Given the description of an element on the screen output the (x, y) to click on. 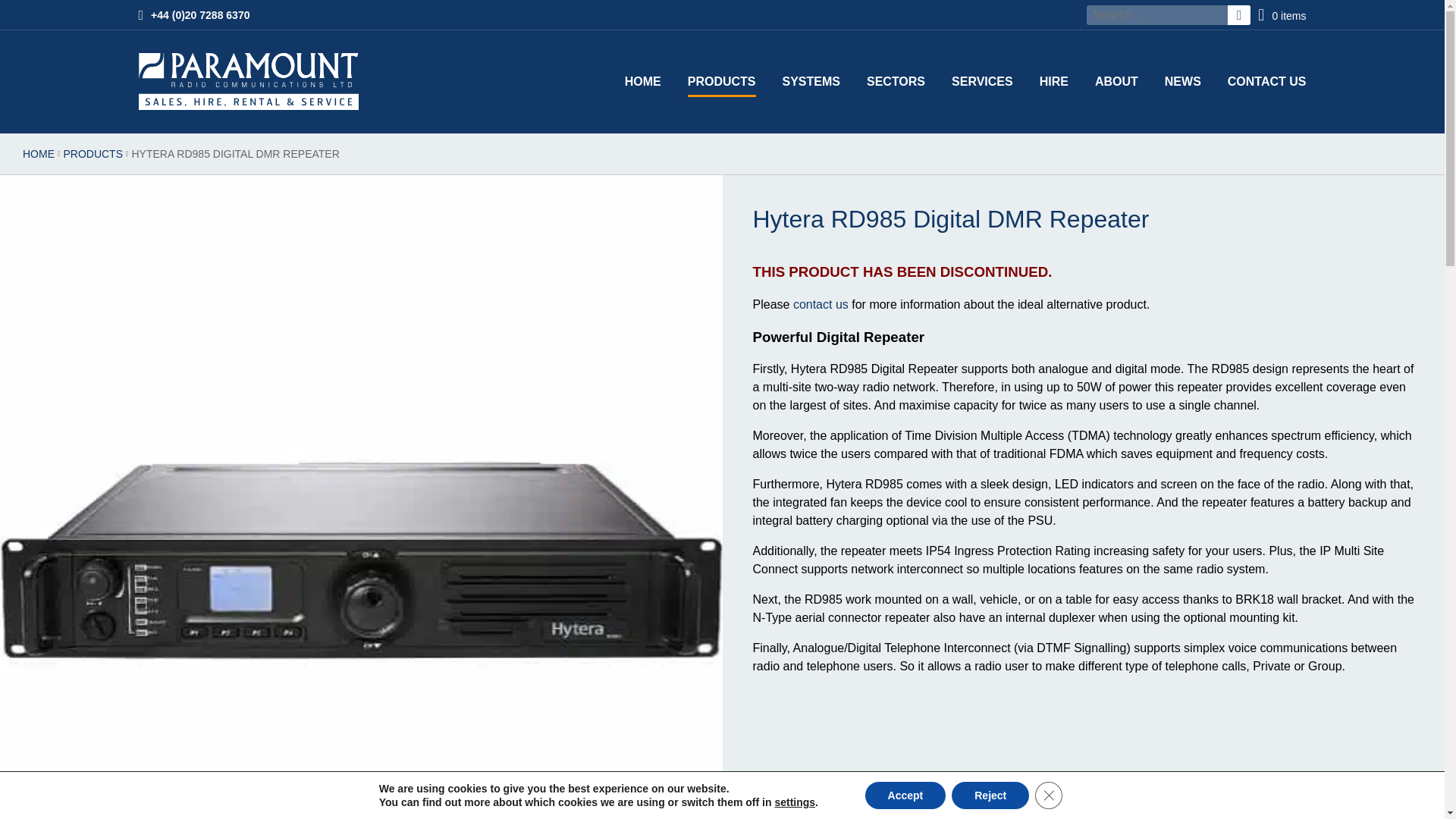
SECTORS (895, 81)
SYSTEMS (811, 81)
PRODUCTS (721, 81)
HOME (642, 81)
0 items (1281, 20)
